Given the description of an element on the screen output the (x, y) to click on. 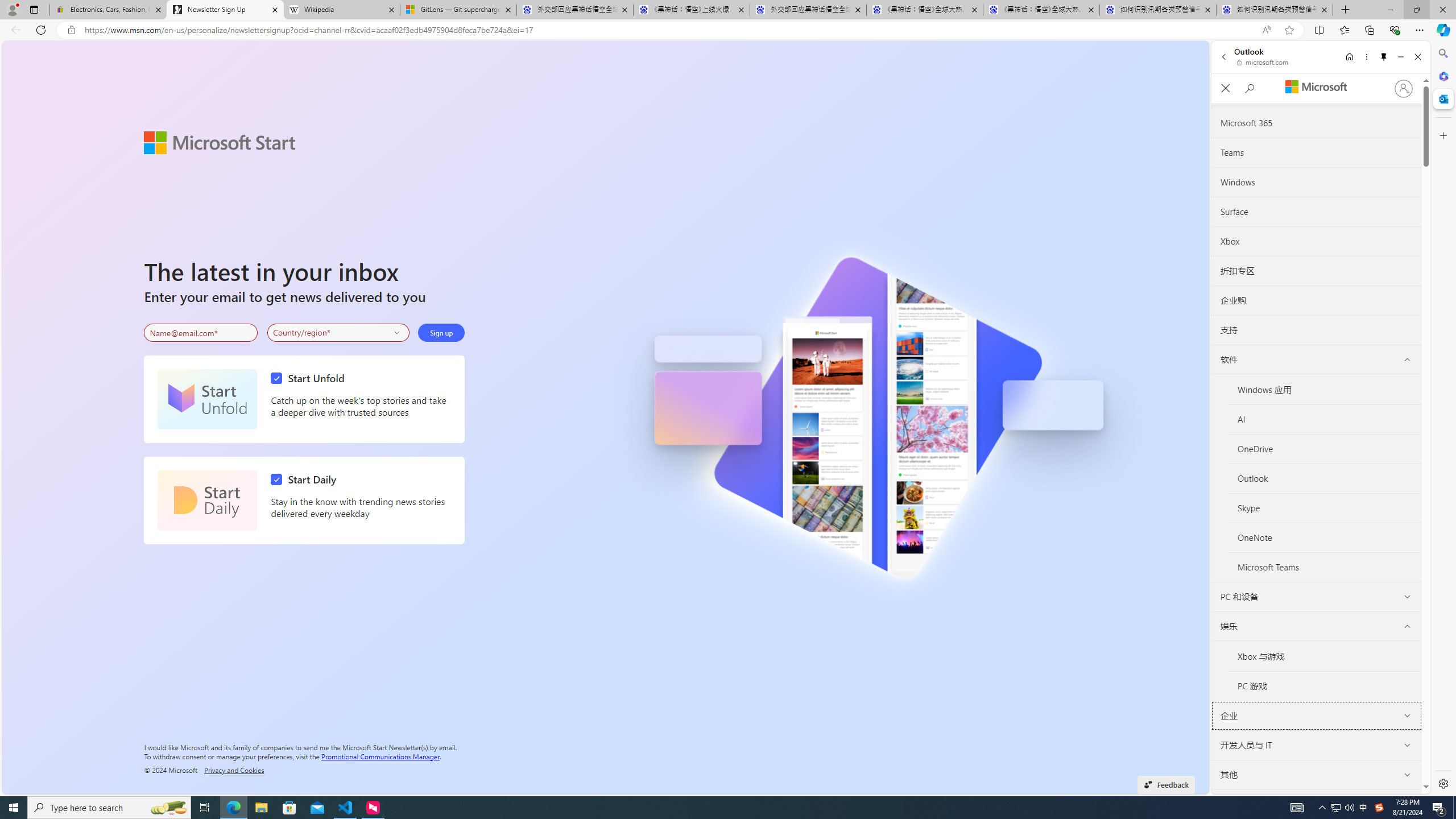
Xbox (1316, 241)
OneNote (1325, 538)
Microsoft Teams (1324, 567)
Start Unfold (310, 378)
Microsoft Teams (1325, 567)
AI (1324, 419)
